Given the description of an element on the screen output the (x, y) to click on. 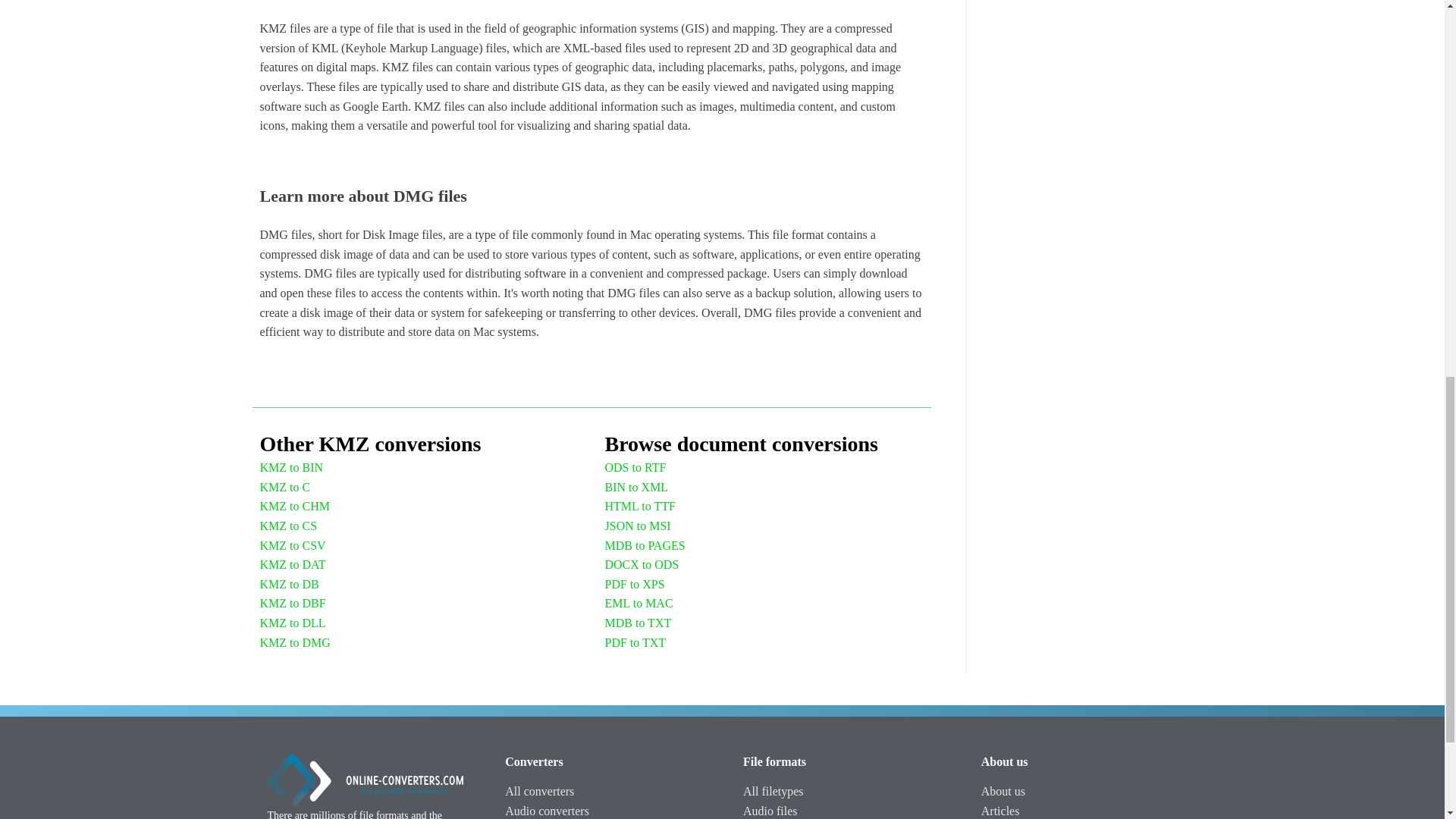
KMZ to DB (288, 584)
DOCX to ODS (642, 564)
KMZ to BIN (291, 467)
ODS to RTF (635, 467)
PDF to TXT (635, 642)
KMZ to DMG (294, 642)
PDF to XPS (635, 584)
JSON to MSI (638, 526)
BIN to XML (636, 487)
KMZ to C (284, 487)
